Given the description of an element on the screen output the (x, y) to click on. 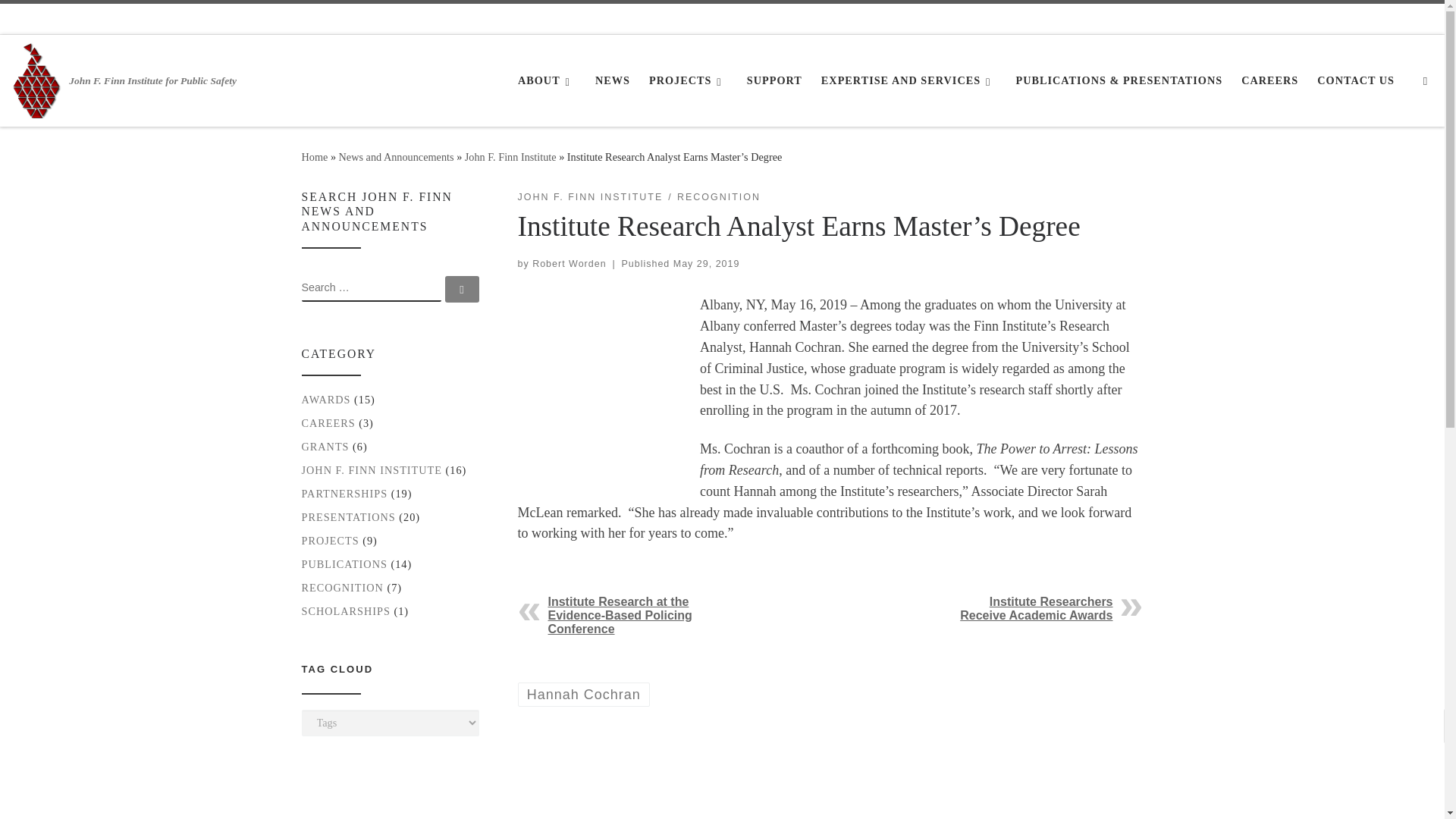
11:01 am (705, 263)
PROJECTS (688, 80)
View all posts in Recognition (718, 197)
View all posts by Robert Worden (568, 263)
John F. Finn (315, 156)
NEWS (612, 80)
View all posts in Hannah Cochran (582, 693)
ABOUT (546, 80)
CONTACT US (1356, 80)
EXPERTISE AND SERVICES (908, 80)
